Given the description of an element on the screen output the (x, y) to click on. 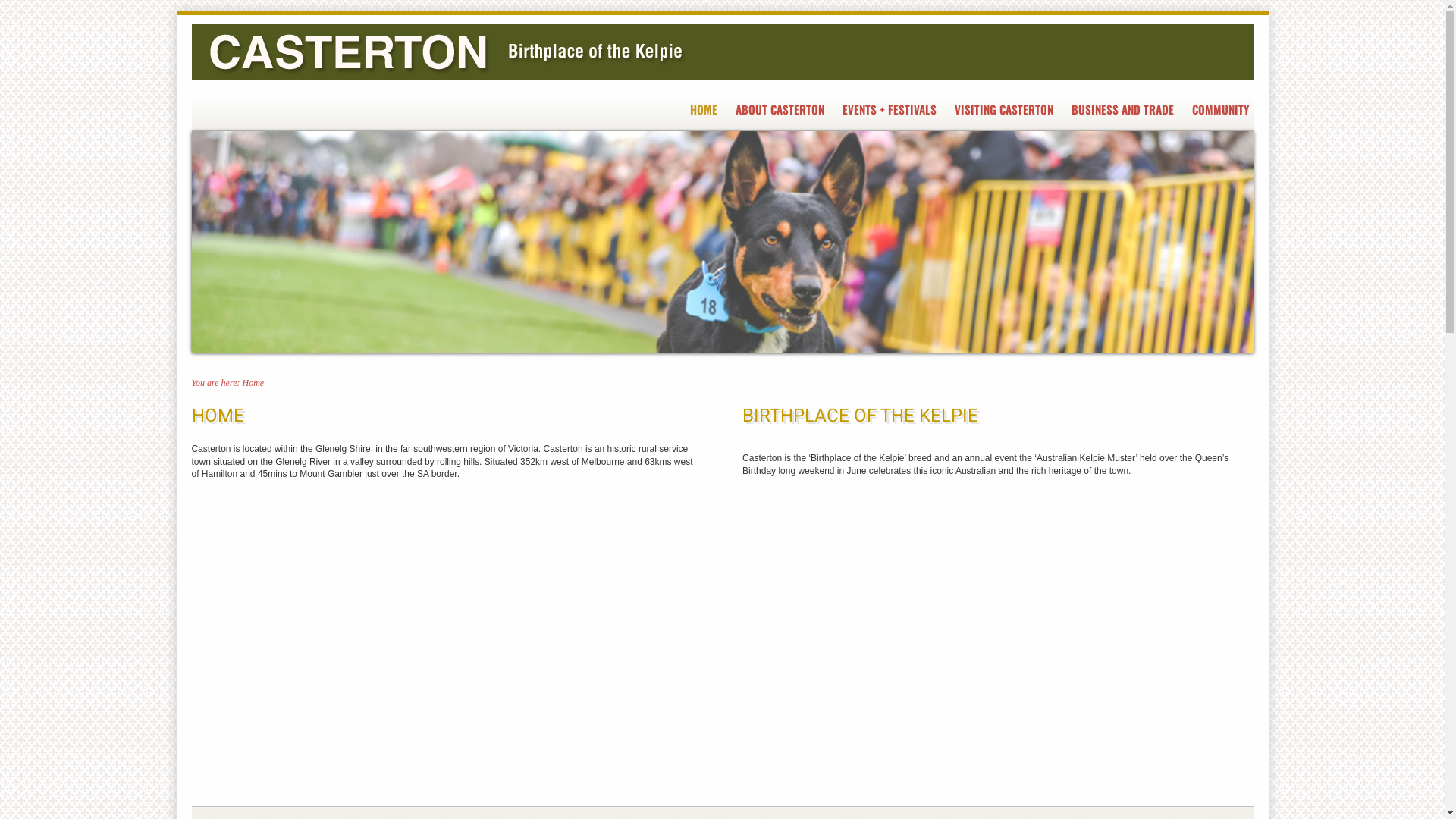
BUSINESS AND TRADE Element type: text (1120, 109)
ABOUT CASTERTON Element type: text (778, 109)
COMMUNITY Element type: text (1218, 109)
HOME Element type: text (701, 109)
EVENTS + FESTIVALS Element type: text (887, 109)
Casterton Element type: hover (721, 52)
VISITING CASTERTON Element type: text (1001, 109)
